Given the description of an element on the screen output the (x, y) to click on. 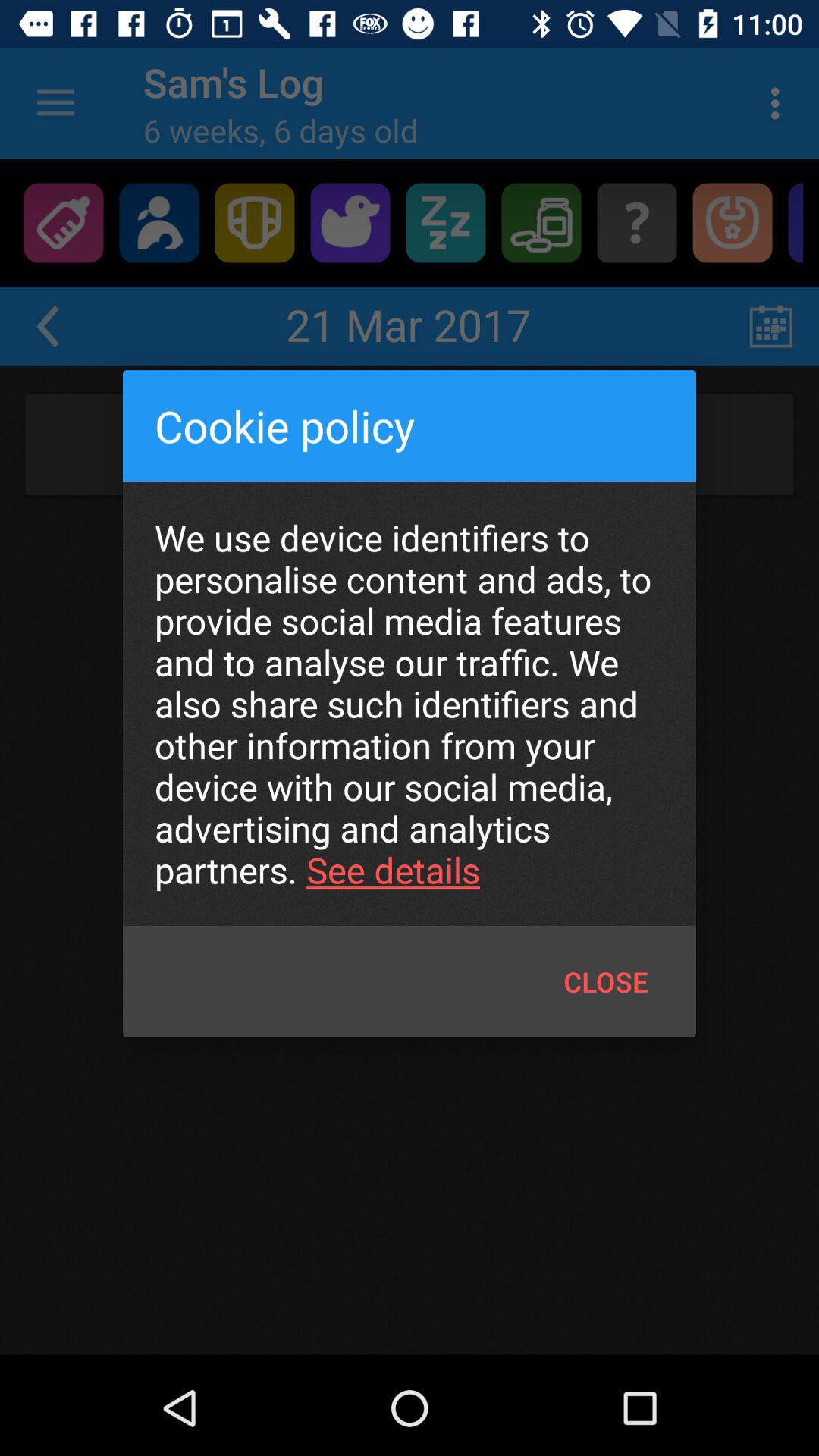
turn off the icon above the close icon (409, 703)
